Given the description of an element on the screen output the (x, y) to click on. 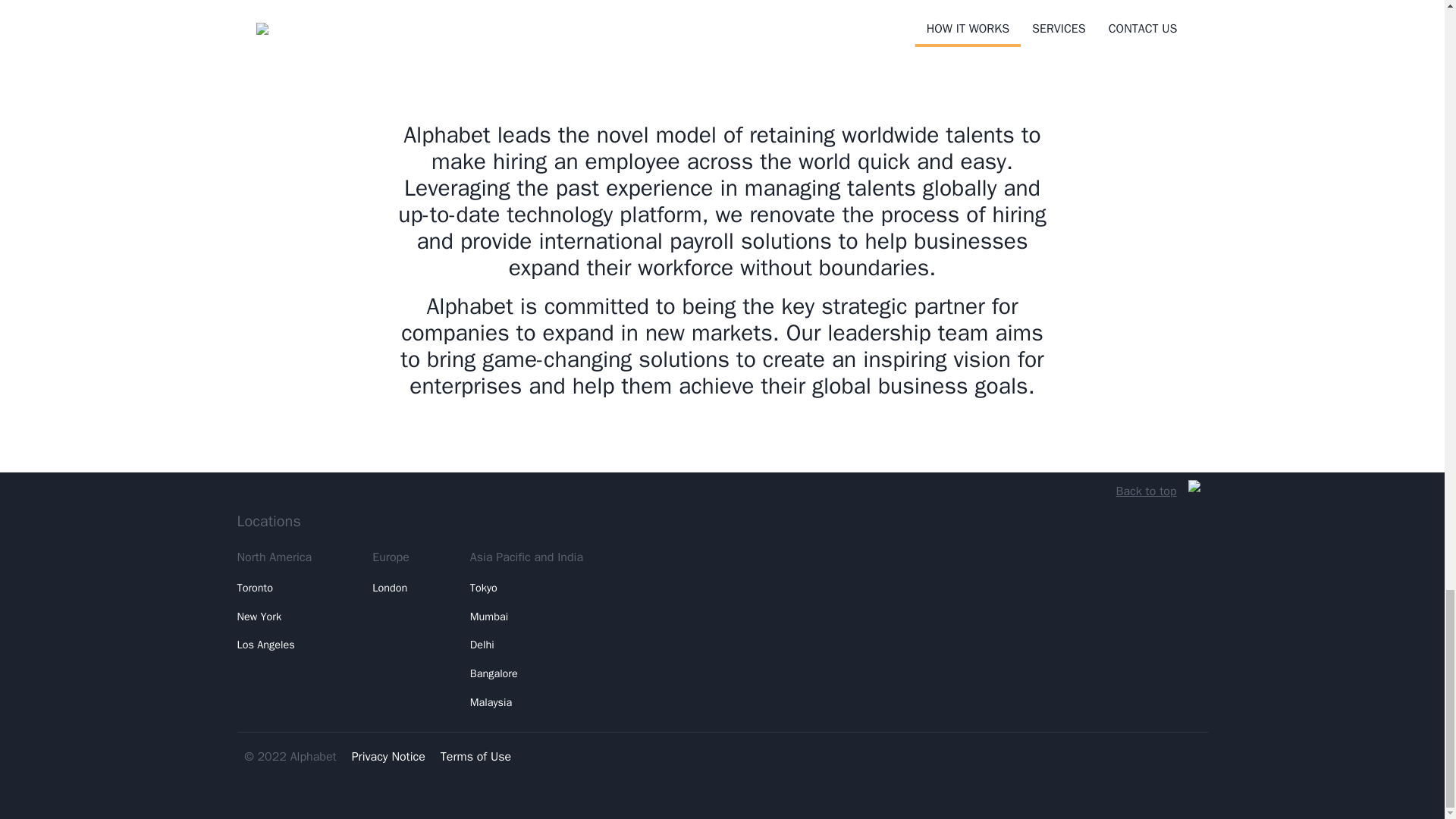
Mumbai (526, 616)
Tokyo (526, 588)
London (390, 588)
Malaysia (526, 702)
Delhi (526, 645)
Privacy Notice (388, 756)
Back to top (1157, 490)
Los Angeles (273, 645)
Bangalore (526, 674)
Toronto (273, 588)
